Given the description of an element on the screen output the (x, y) to click on. 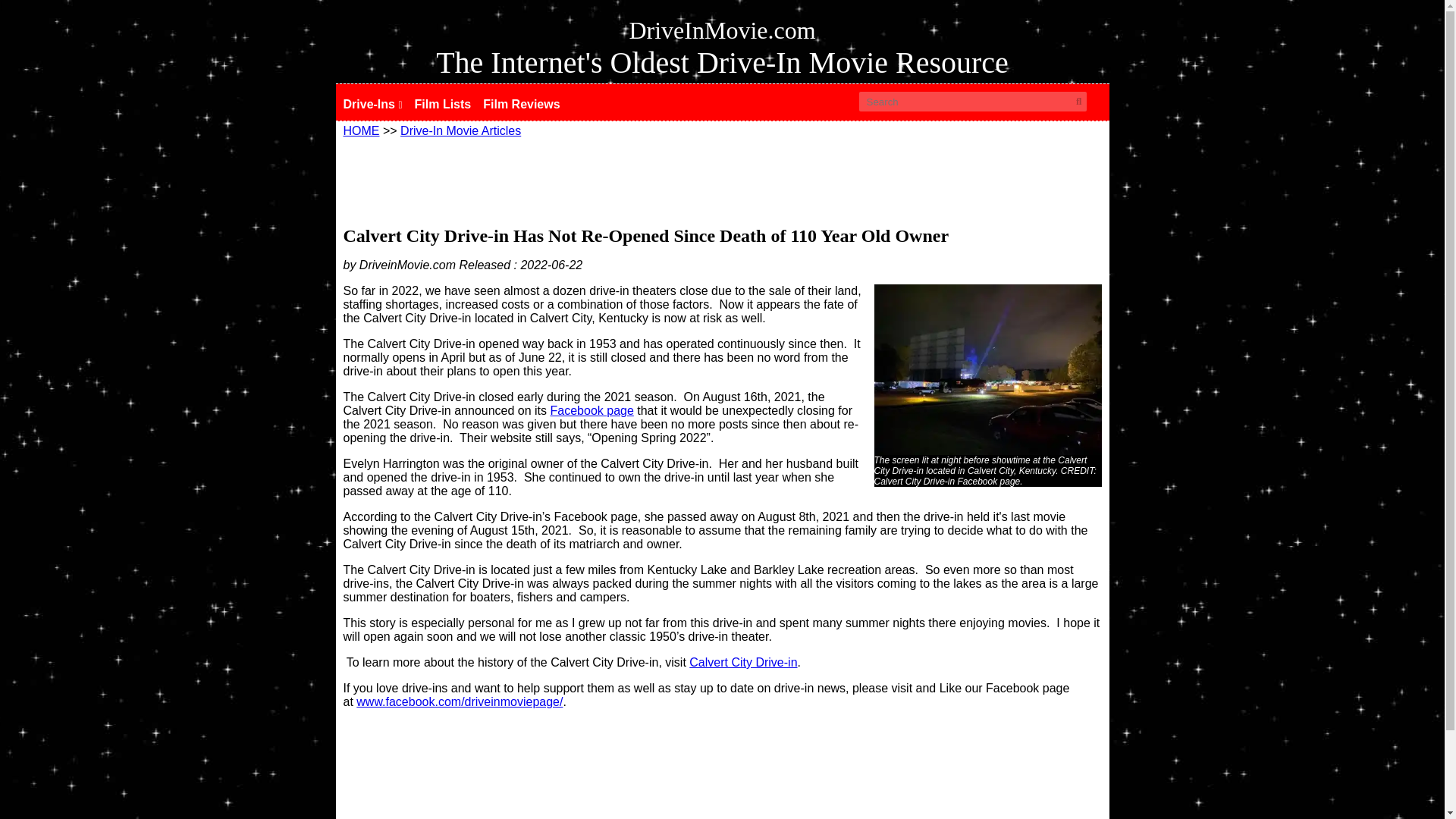
Drive-Ins (377, 106)
Film Reviews (527, 106)
Advertisement (721, 786)
HOME (360, 130)
Advertisement (721, 179)
DriveInMovie.com (721, 30)
Drive-In Movie Articles (460, 130)
Facebook page (591, 410)
Film Lists (448, 106)
Calvert City Drive-in (742, 662)
